Given the description of an element on the screen output the (x, y) to click on. 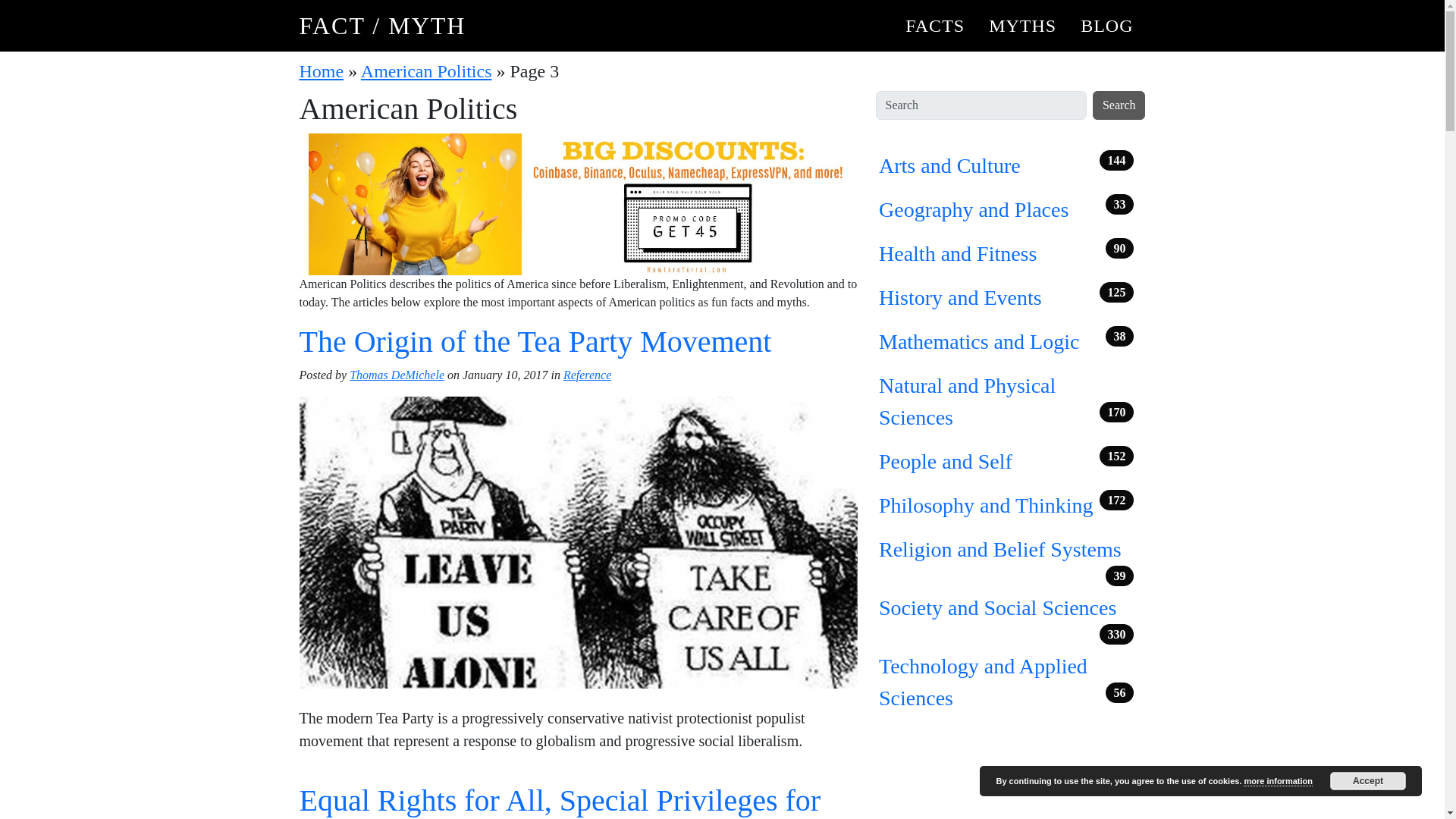
The Origin of the Tea Party Movement (534, 341)
FACTS (934, 25)
Posts by Thomas DeMichele (396, 374)
Home (320, 71)
Thomas DeMichele (396, 374)
Reference (587, 374)
American Politics (426, 71)
MYTHS (1022, 25)
BLOG (1106, 25)
Equal Rights for All, Special Privileges for None (559, 800)
